Given the description of an element on the screen output the (x, y) to click on. 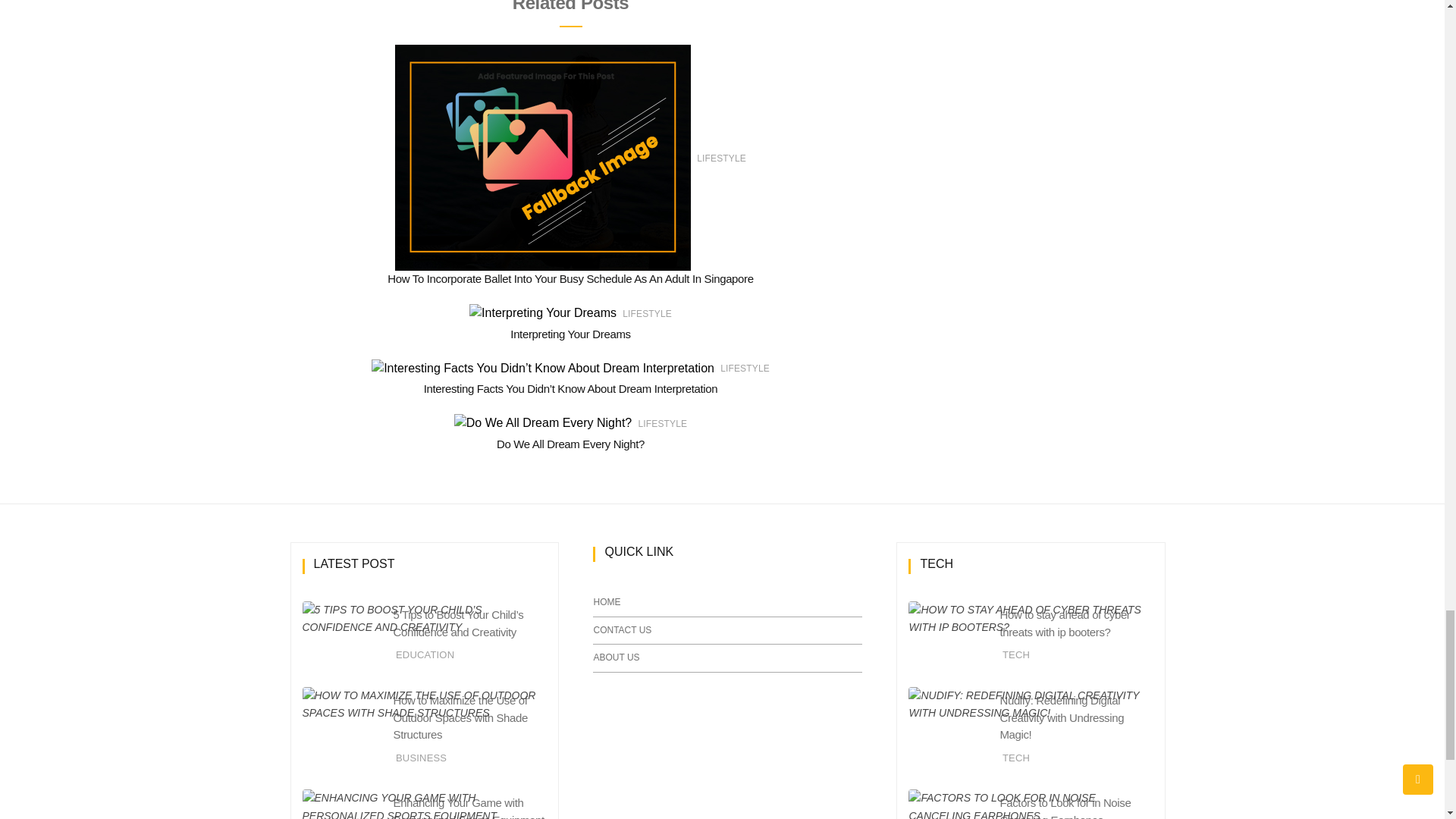
LIFESTYLE (647, 313)
Interpreting Your Dreams (570, 333)
Do We All Dream Every Night? (570, 443)
LIFESTYLE (745, 368)
Do We All Dream Every Night? (570, 443)
Interpreting Your Dreams (570, 333)
Enhancing Your Game with Personalized Sports Equipment (468, 807)
LIFESTYLE (662, 423)
LIFESTYLE (721, 158)
